Given the description of an element on the screen output the (x, y) to click on. 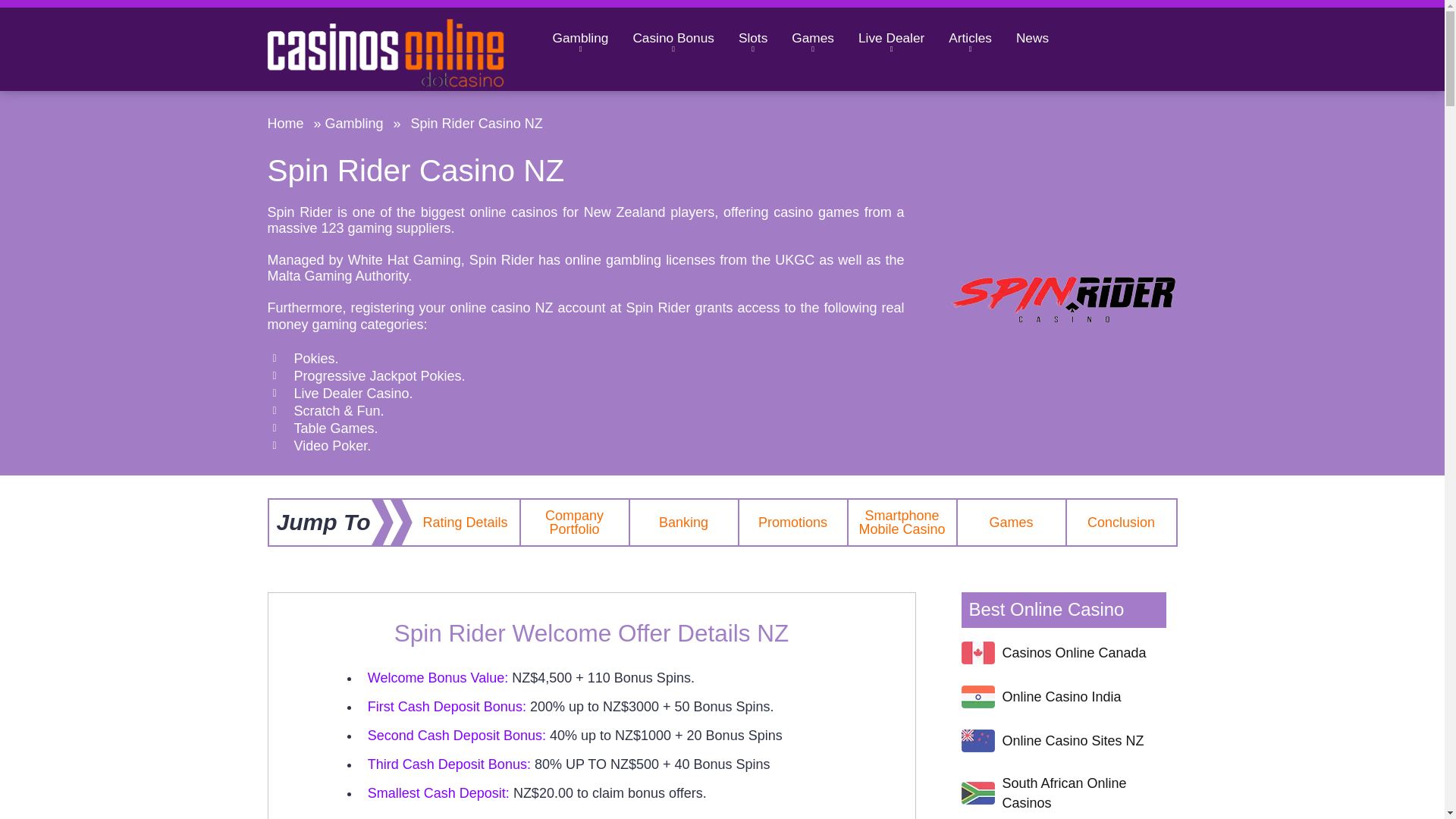
Online Casinos NZ (977, 740)
Live Dealer (890, 38)
Spin Rider Online Casino. (1062, 295)
Real Money Online Casino Canada (977, 652)
CasinosOnline.Casino (403, 48)
CasinosOnline.Casino (384, 52)
Casino Bonus (673, 38)
Gambling (580, 38)
Games (811, 38)
South African Casinos (977, 793)
India Casinos Online (977, 696)
